Given the description of an element on the screen output the (x, y) to click on. 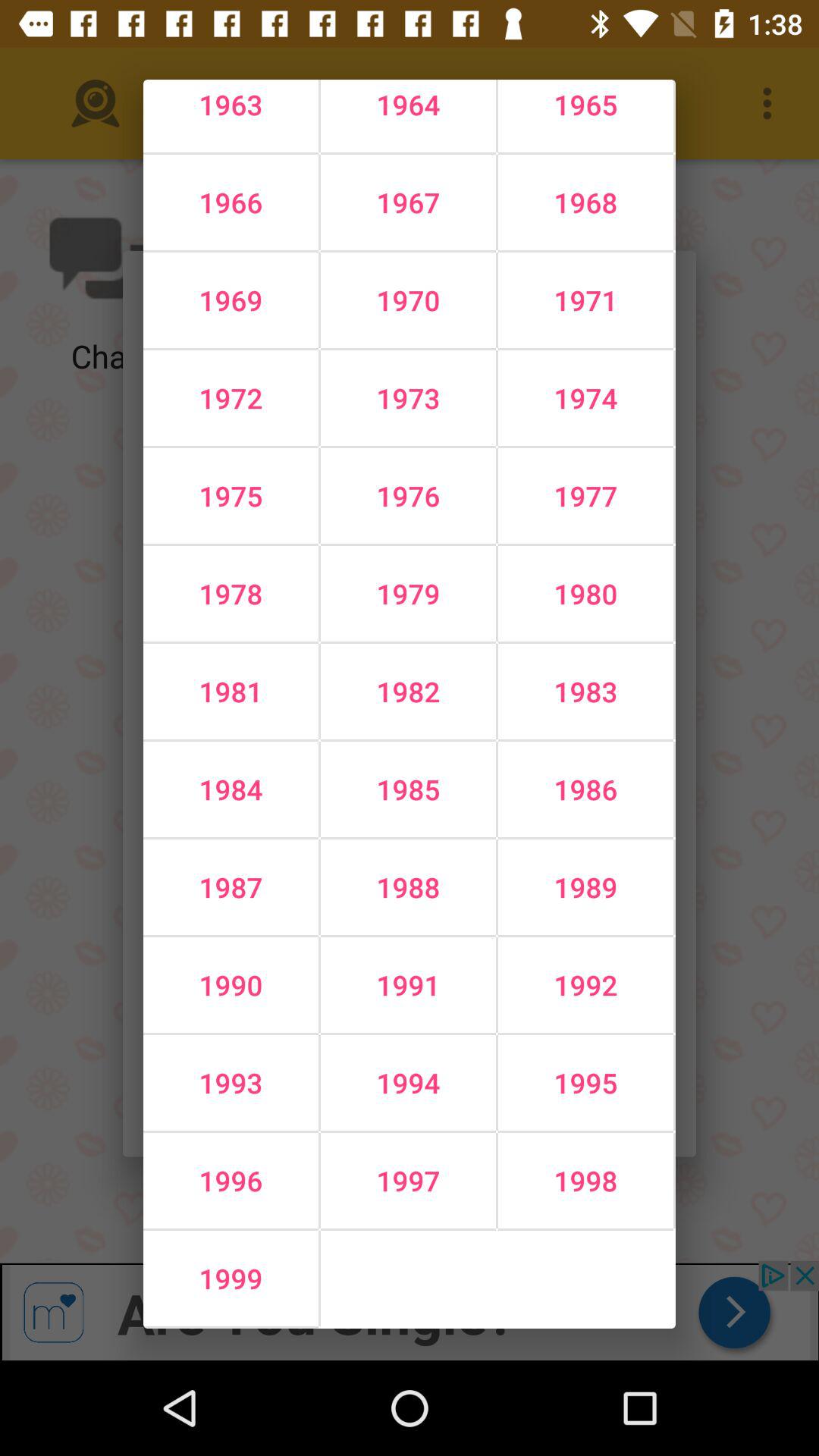
select the icon below the 1972 (407, 495)
